Given the description of an element on the screen output the (x, y) to click on. 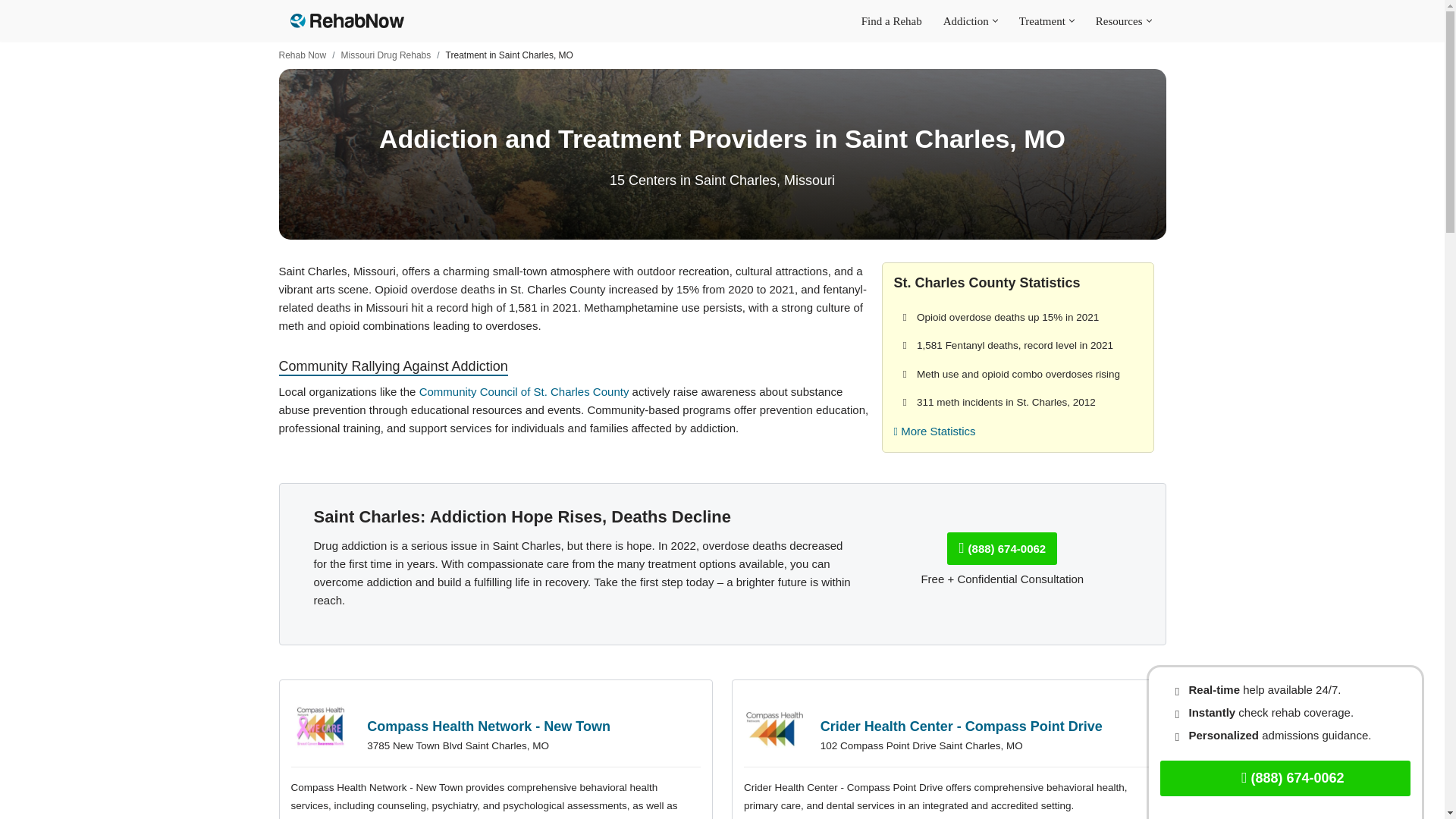
Treatment (1042, 20)
Skip to content (11, 31)
Find a Rehab (891, 20)
Addiction (965, 20)
Resources (1119, 20)
